Given the description of an element on the screen output the (x, y) to click on. 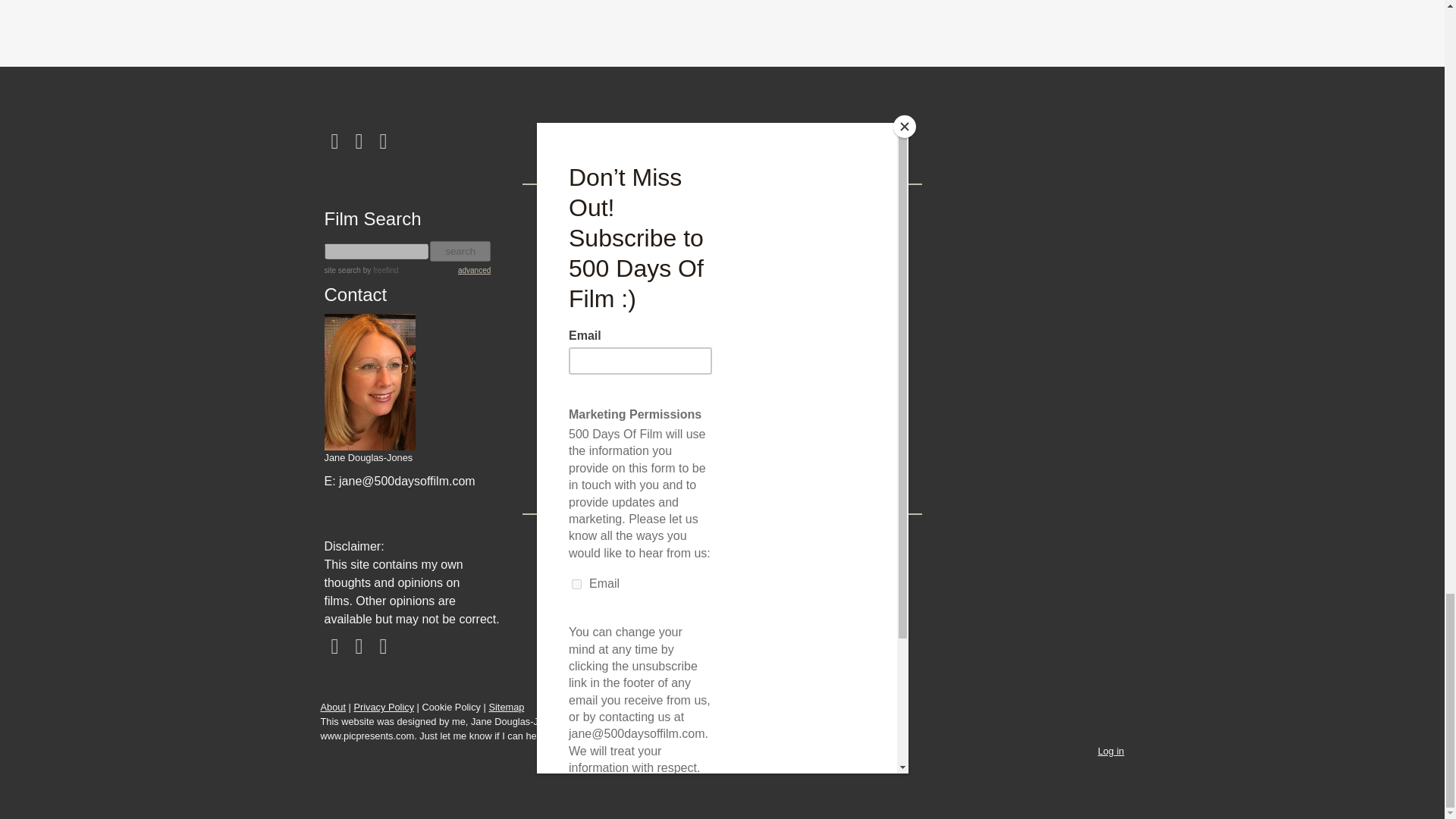
Twitter (359, 141)
Facebook (335, 141)
Facebook (335, 646)
Twitter (359, 646)
Email (383, 141)
Email (383, 646)
search (459, 250)
